Given the description of an element on the screen output the (x, y) to click on. 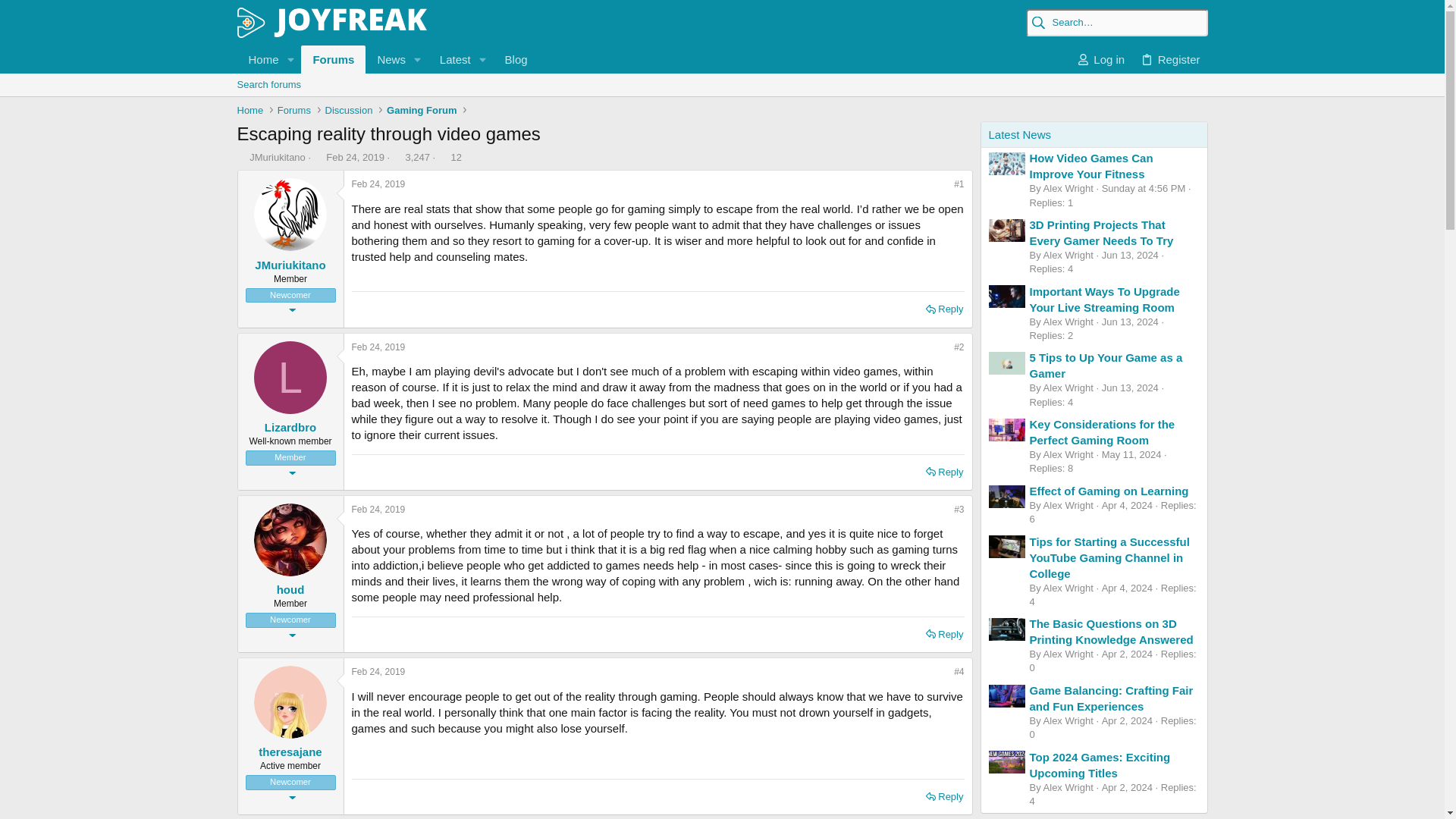
Search forums (721, 101)
Views (398, 156)
Start date (387, 59)
Blog (318, 156)
Latest (515, 59)
Feb 24, 2019 at 2:06 PM (449, 59)
Feb 24, 2019 at 4:00 PM (379, 347)
Reply, quoting this message (379, 509)
